Given the description of an element on the screen output the (x, y) to click on. 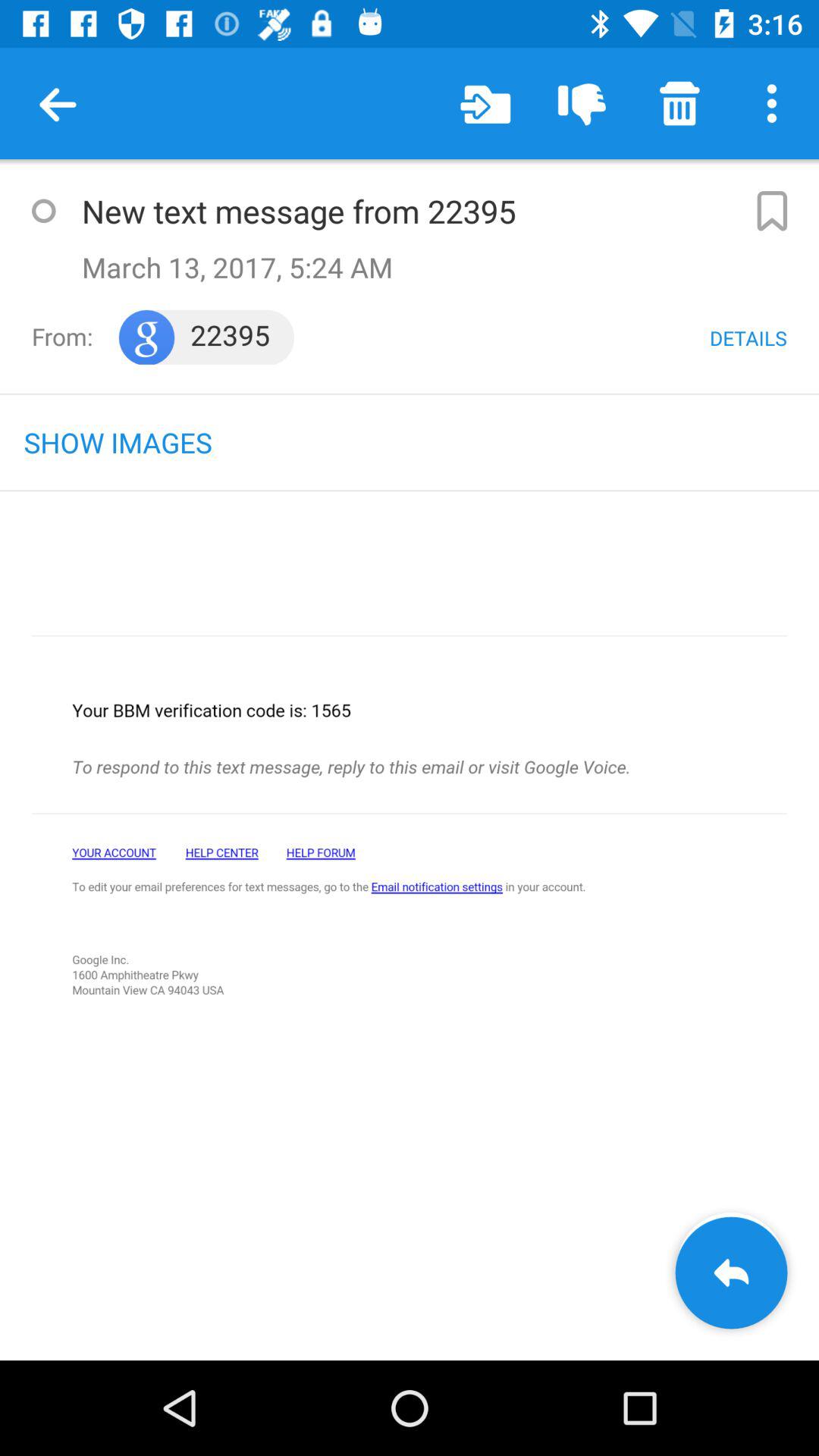
main content of the page (409, 939)
